Given the description of an element on the screen output the (x, y) to click on. 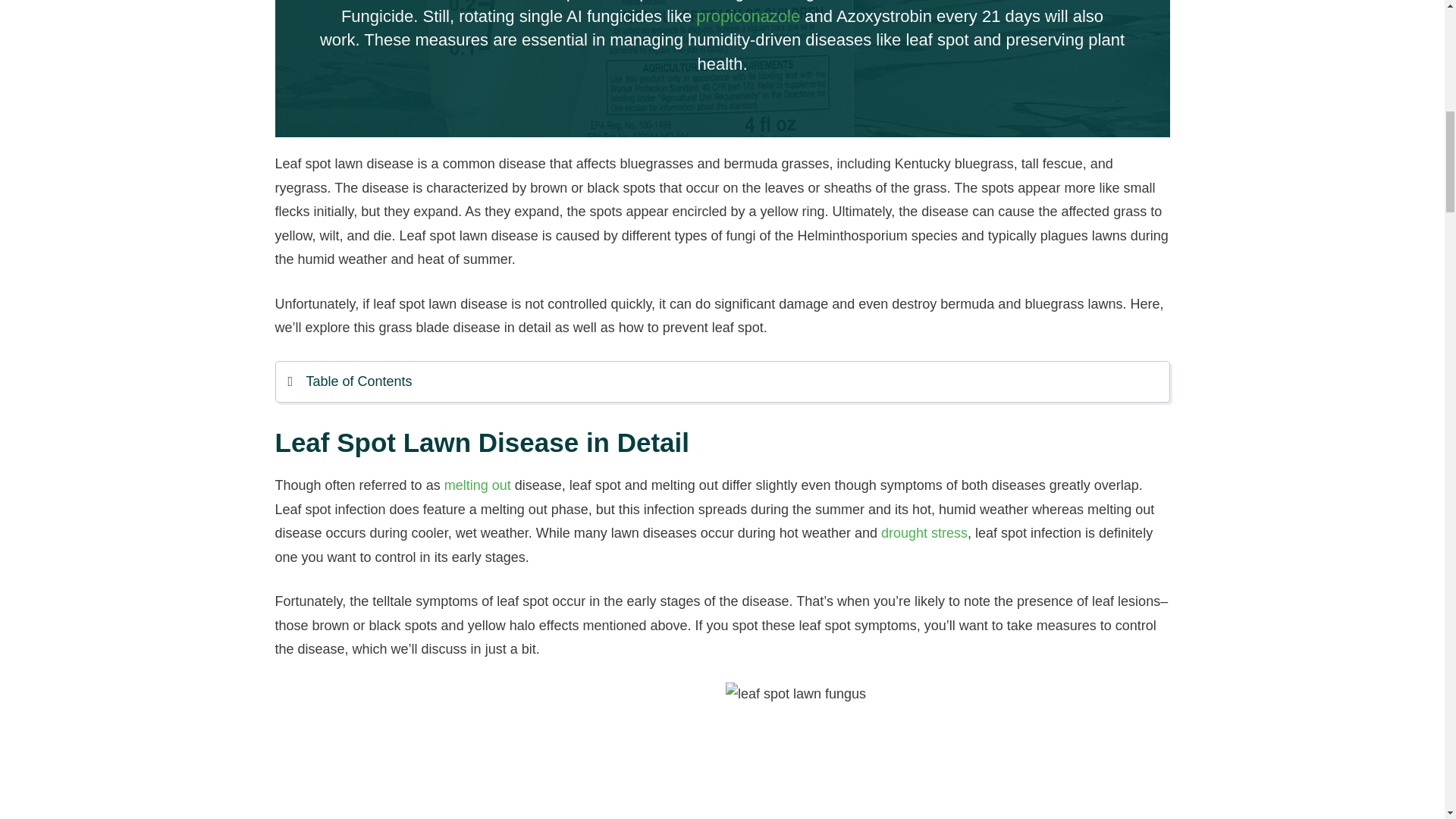
propiconazole (747, 15)
melting out (477, 485)
drought stress (924, 532)
melting out (477, 485)
Scroll back to top (1406, 720)
drought stress (924, 532)
propiconazole (747, 15)
